Given the description of an element on the screen output the (x, y) to click on. 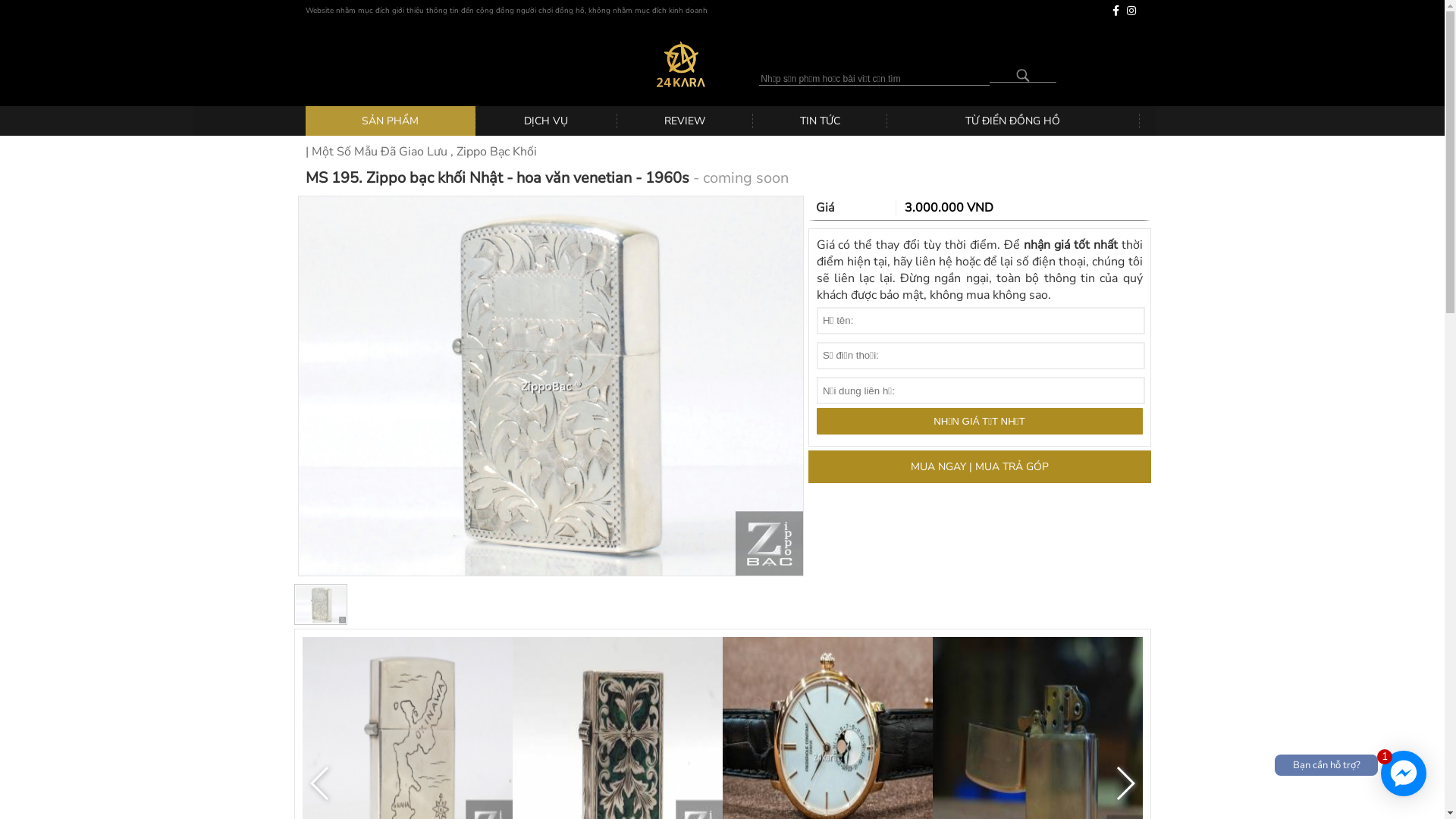
. Element type: text (1021, 75)
REVIEW Element type: text (685, 120)
